Given the description of an element on the screen output the (x, y) to click on. 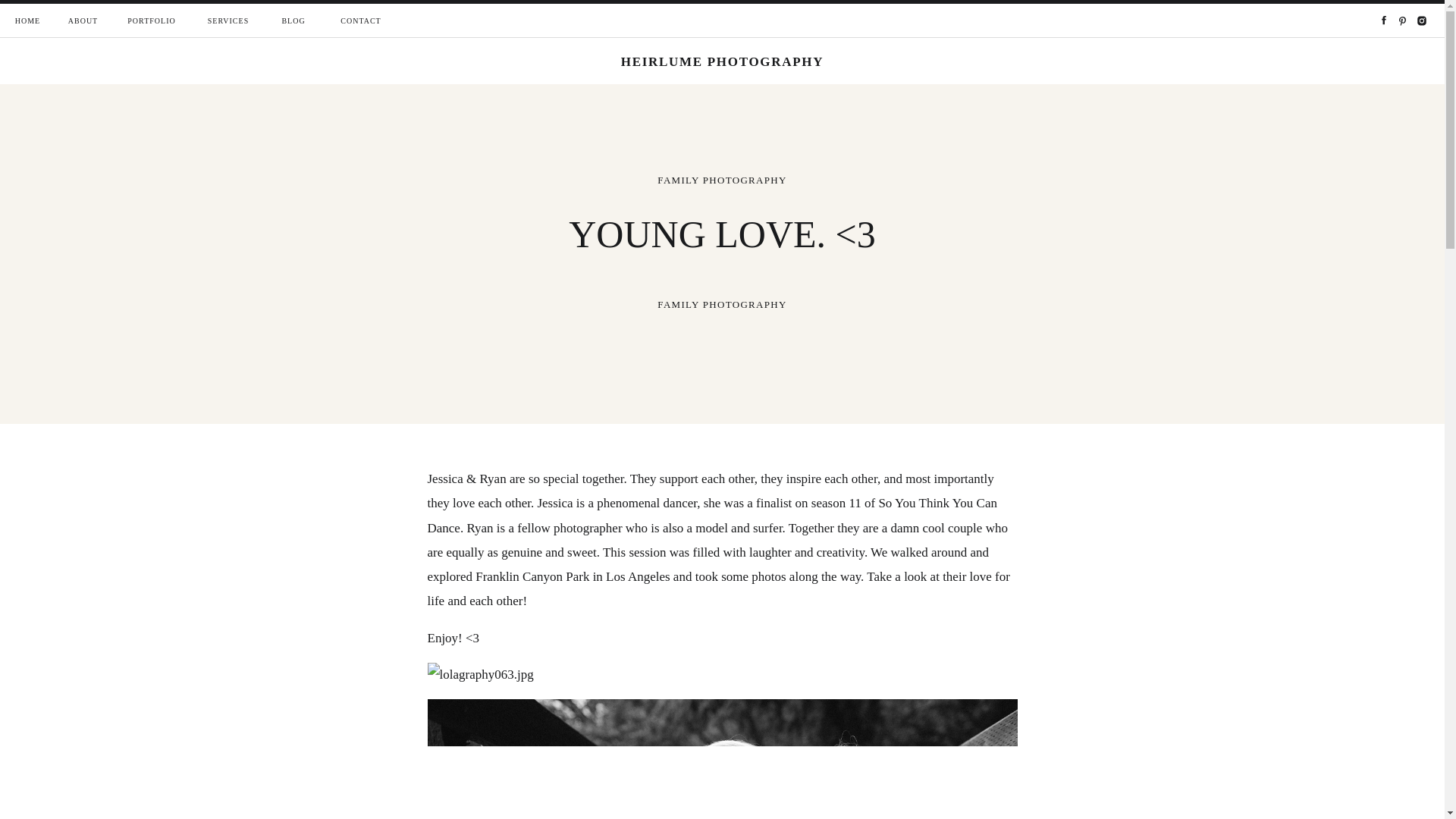
BLOG (293, 20)
FAMILY PHOTOGRAPHY (722, 304)
FAMILY PHOTOGRAPHY (722, 179)
PORTFOLIO (151, 20)
HOME (27, 20)
HEIRLUME PHOTOGRAPHY (722, 62)
ABOUT (82, 20)
CONTACT (360, 20)
SERVICES (227, 20)
